Given the description of an element on the screen output the (x, y) to click on. 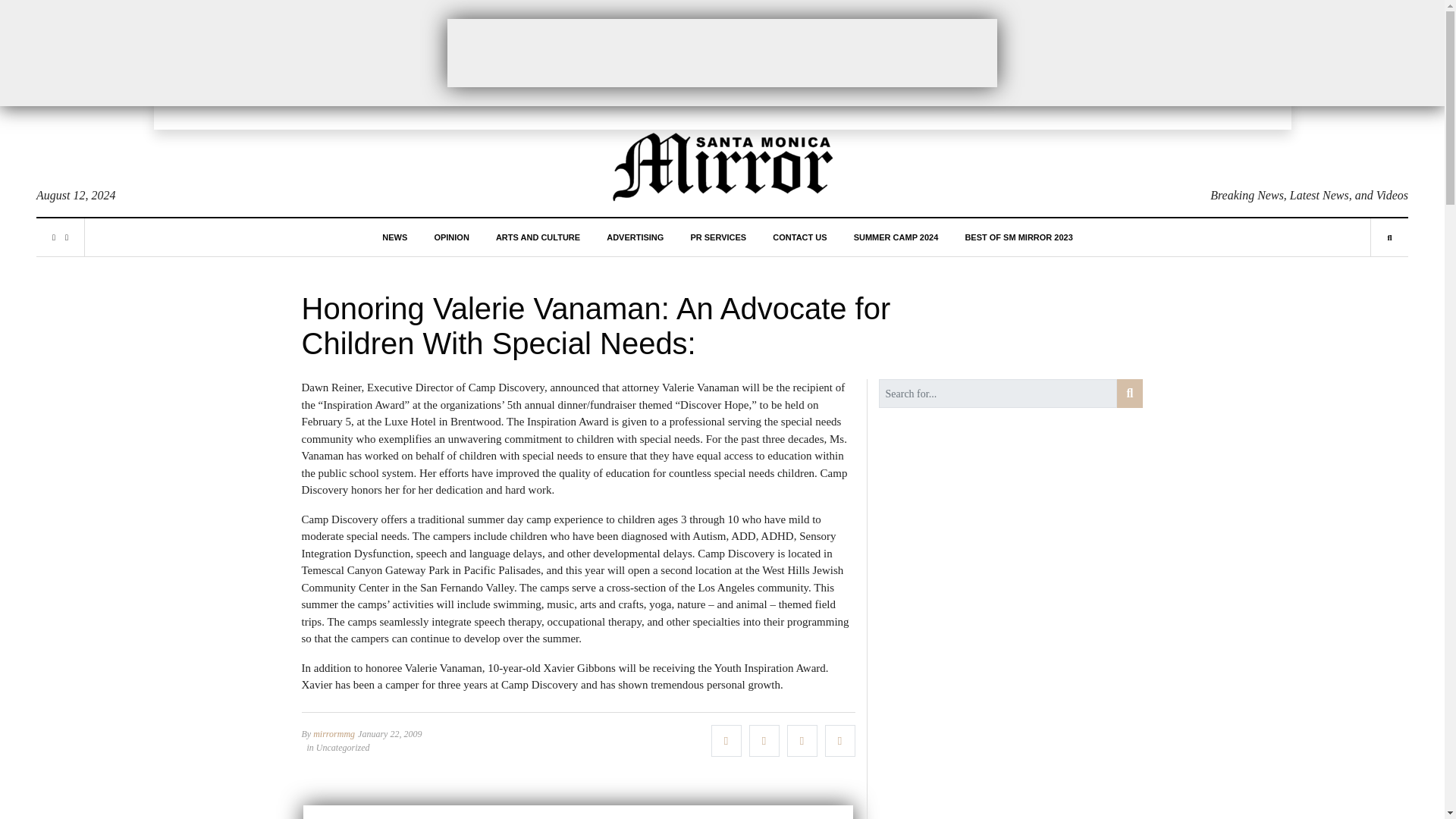
SUMMER CAMP 2024 (896, 237)
PR SERVICES (717, 237)
3rd party ad content (577, 812)
3rd party ad content (721, 52)
OPINION (450, 237)
ARTS AND CULTURE (537, 237)
BEST OF SM MIRROR 2023 (1017, 237)
CONTACT US (800, 237)
ADVERTISING (635, 237)
mirrormmg (334, 733)
